Given the description of an element on the screen output the (x, y) to click on. 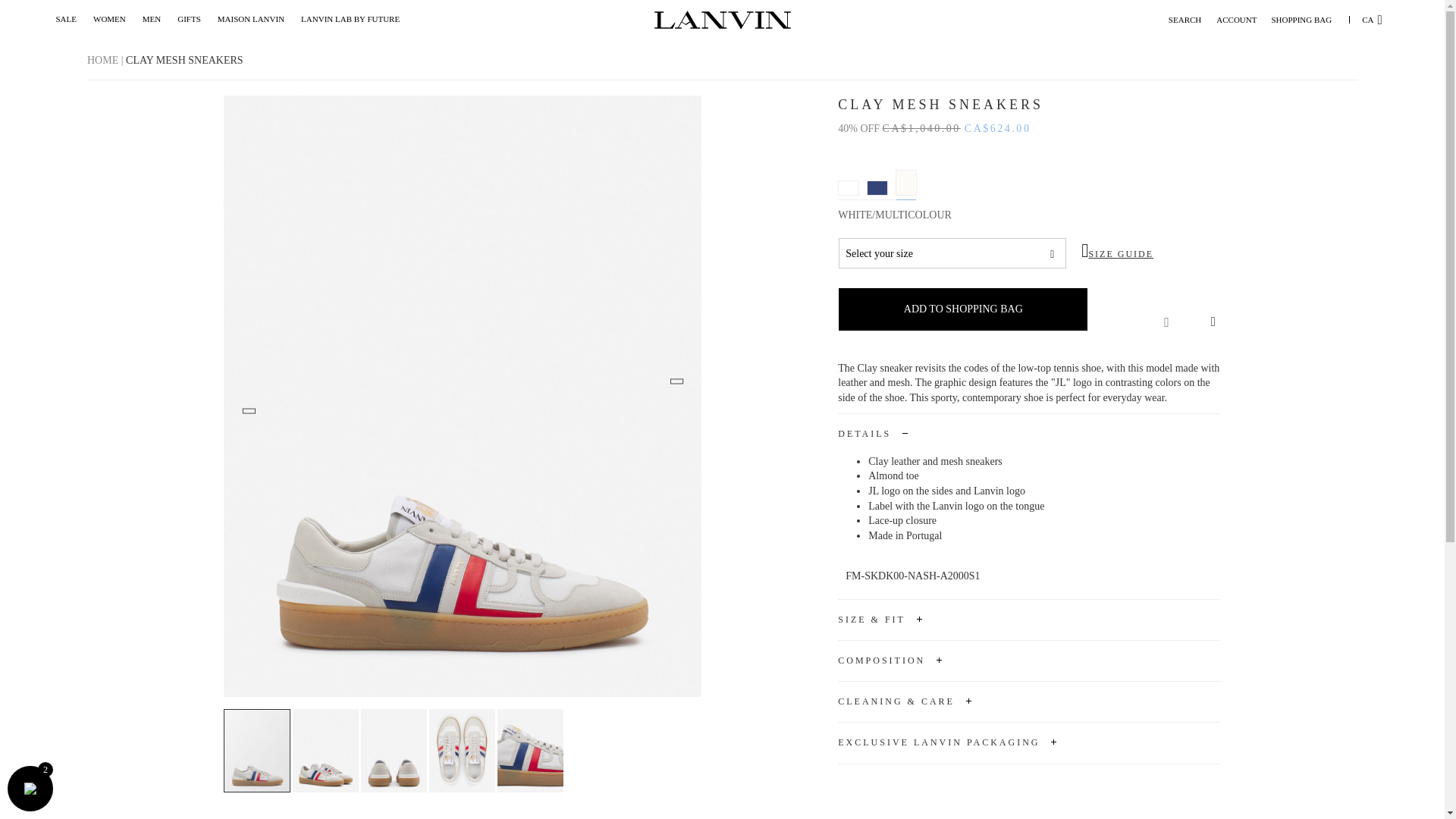
WOMEN (109, 19)
SALE (66, 19)
